Given the description of an element on the screen output the (x, y) to click on. 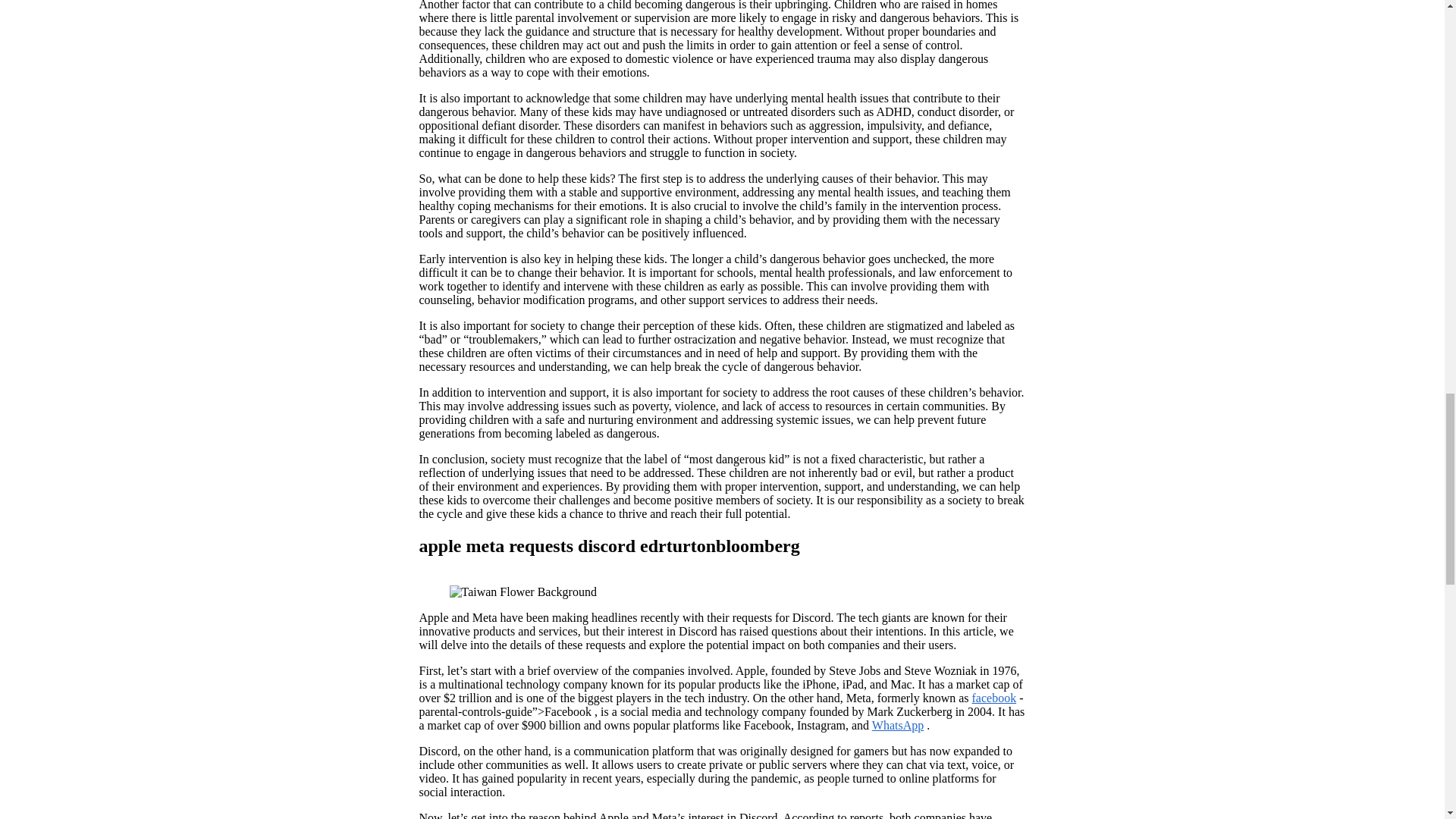
facebook (994, 697)
Taiwan Flower Background (521, 591)
WhatsApp (897, 725)
